Given the description of an element on the screen output the (x, y) to click on. 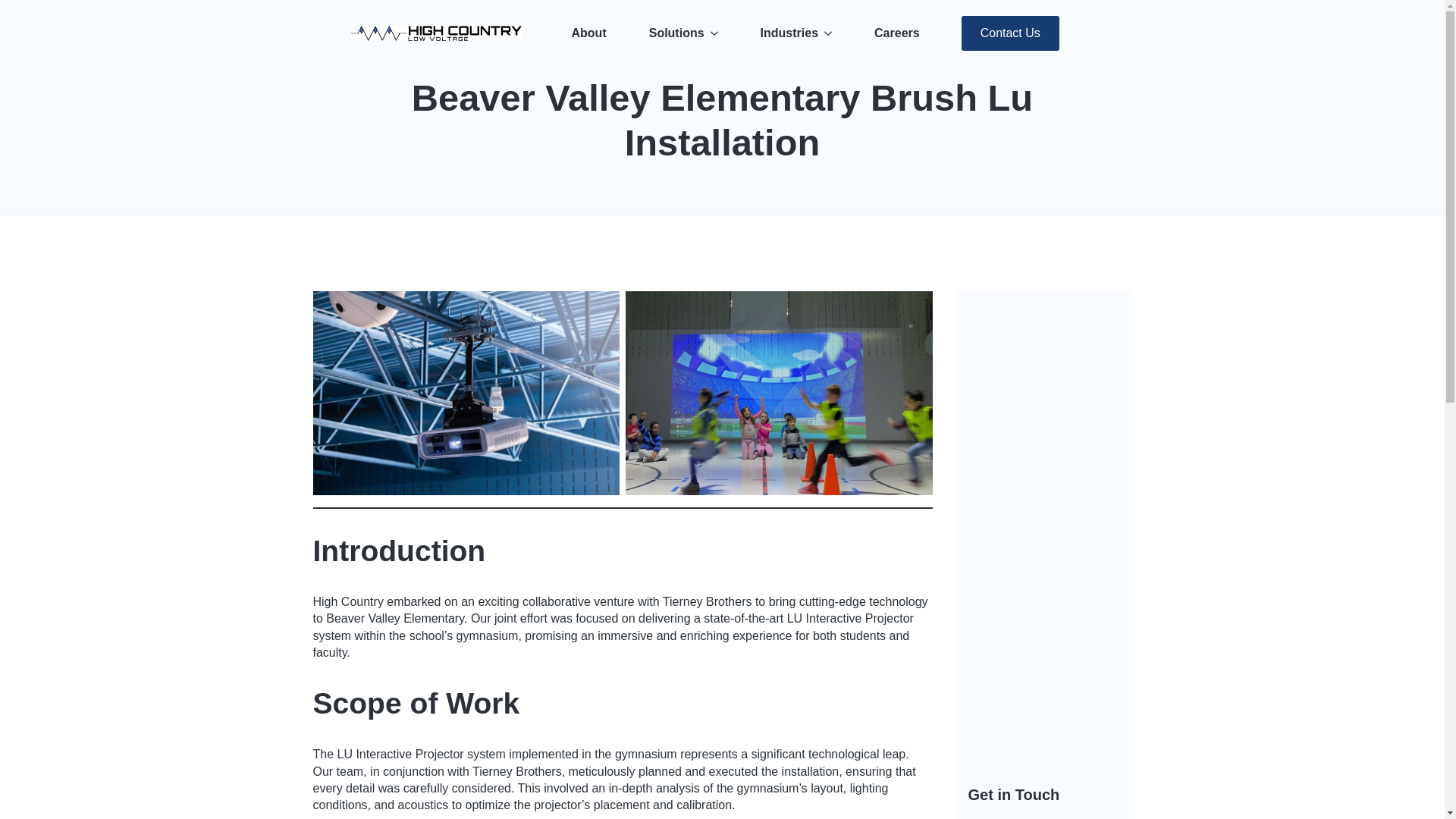
Industries (783, 33)
Contact Us (1009, 32)
Careers (896, 33)
About (588, 33)
Solutions (670, 33)
